Given the description of an element on the screen output the (x, y) to click on. 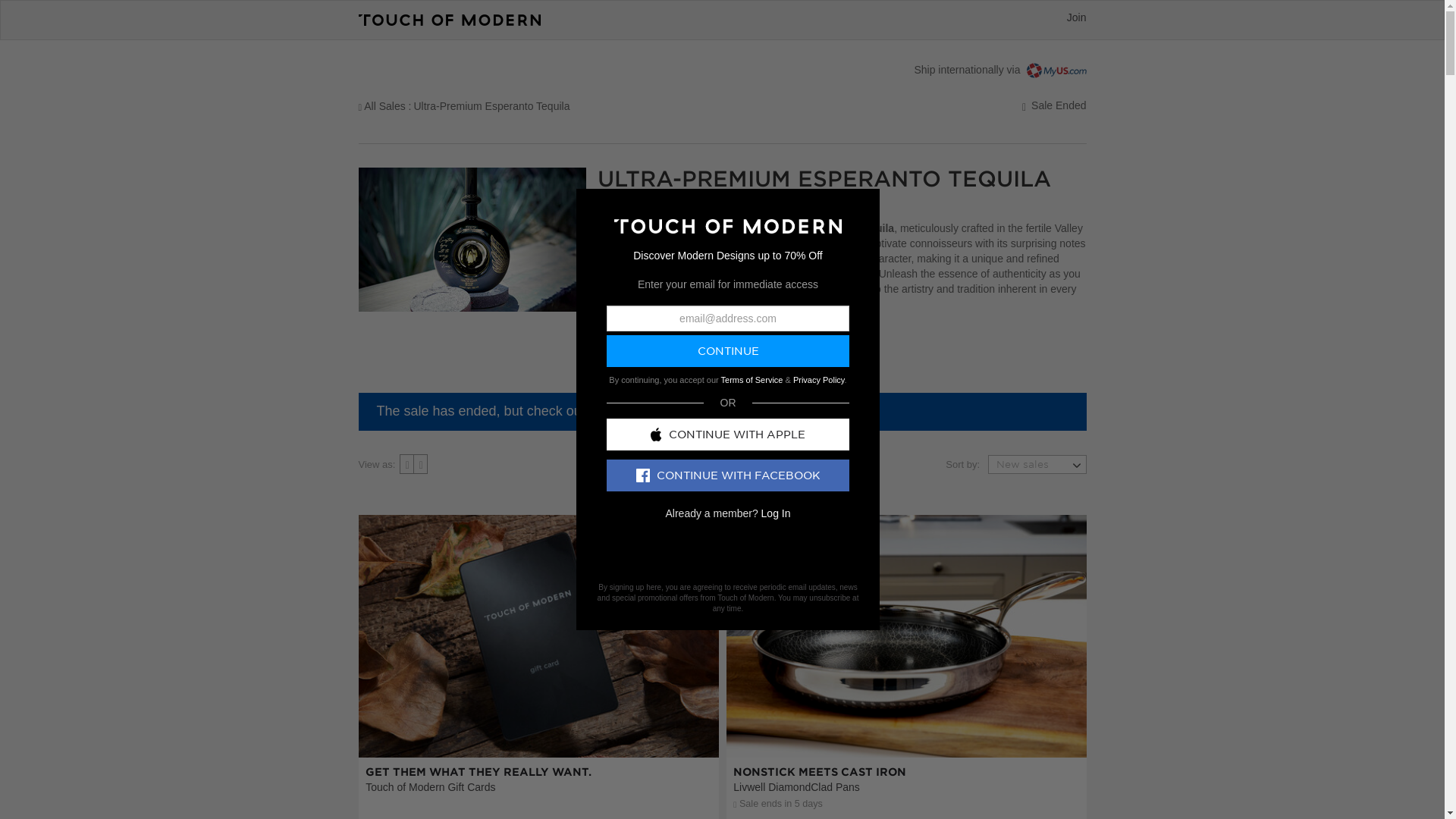
Join (1076, 17)
All Sales (537, 724)
All Sales (381, 105)
Get them what they really want. (381, 105)
Ship internationally via (537, 724)
Nonstick Meets Cast Iron (1000, 69)
Continue (906, 724)
